Given the description of an element on the screen output the (x, y) to click on. 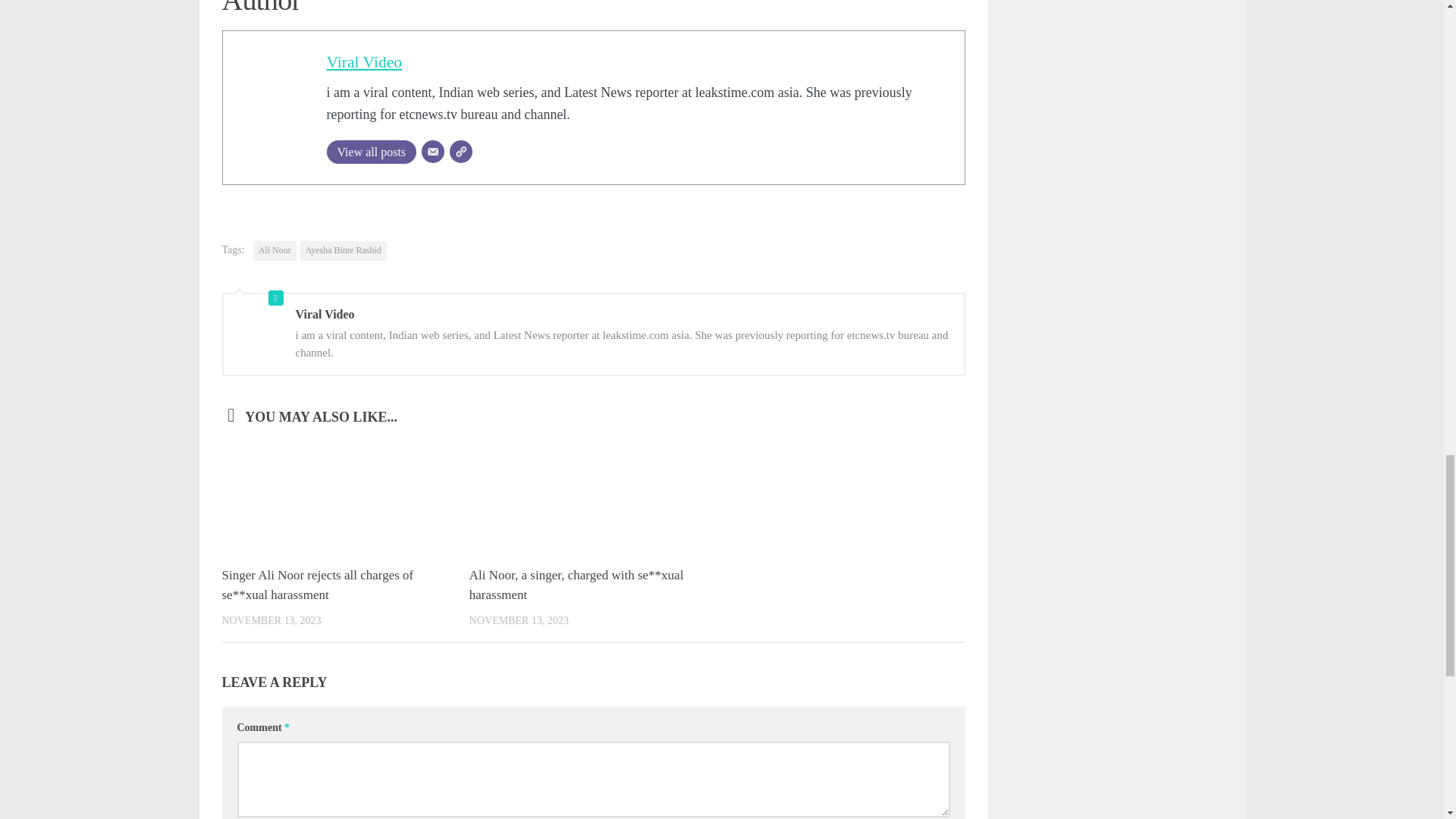
View all posts (371, 151)
Viral Video (363, 62)
